Given the description of an element on the screen output the (x, y) to click on. 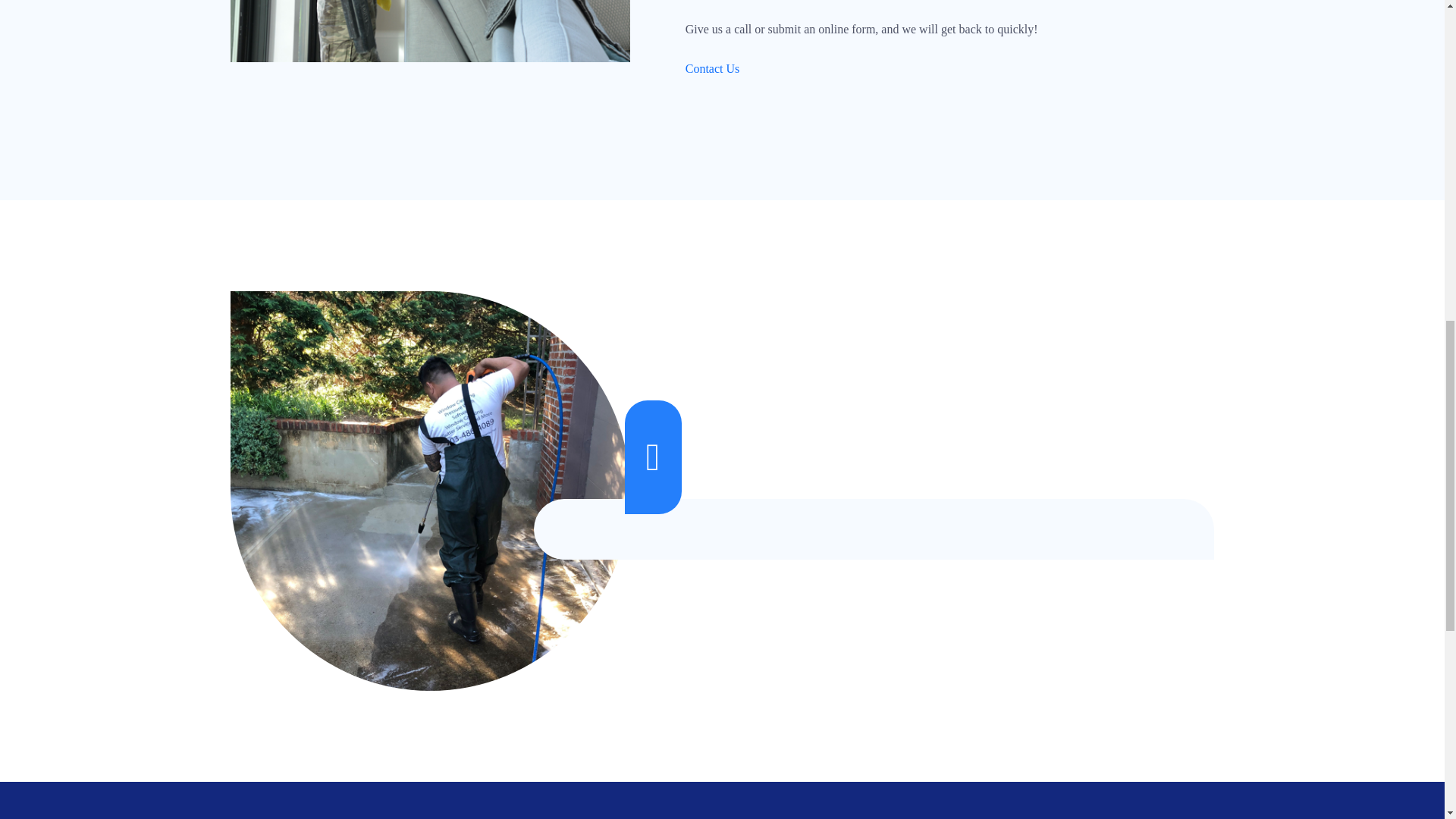
Contact (712, 68)
Contact Us (712, 68)
